Given the description of an element on the screen output the (x, y) to click on. 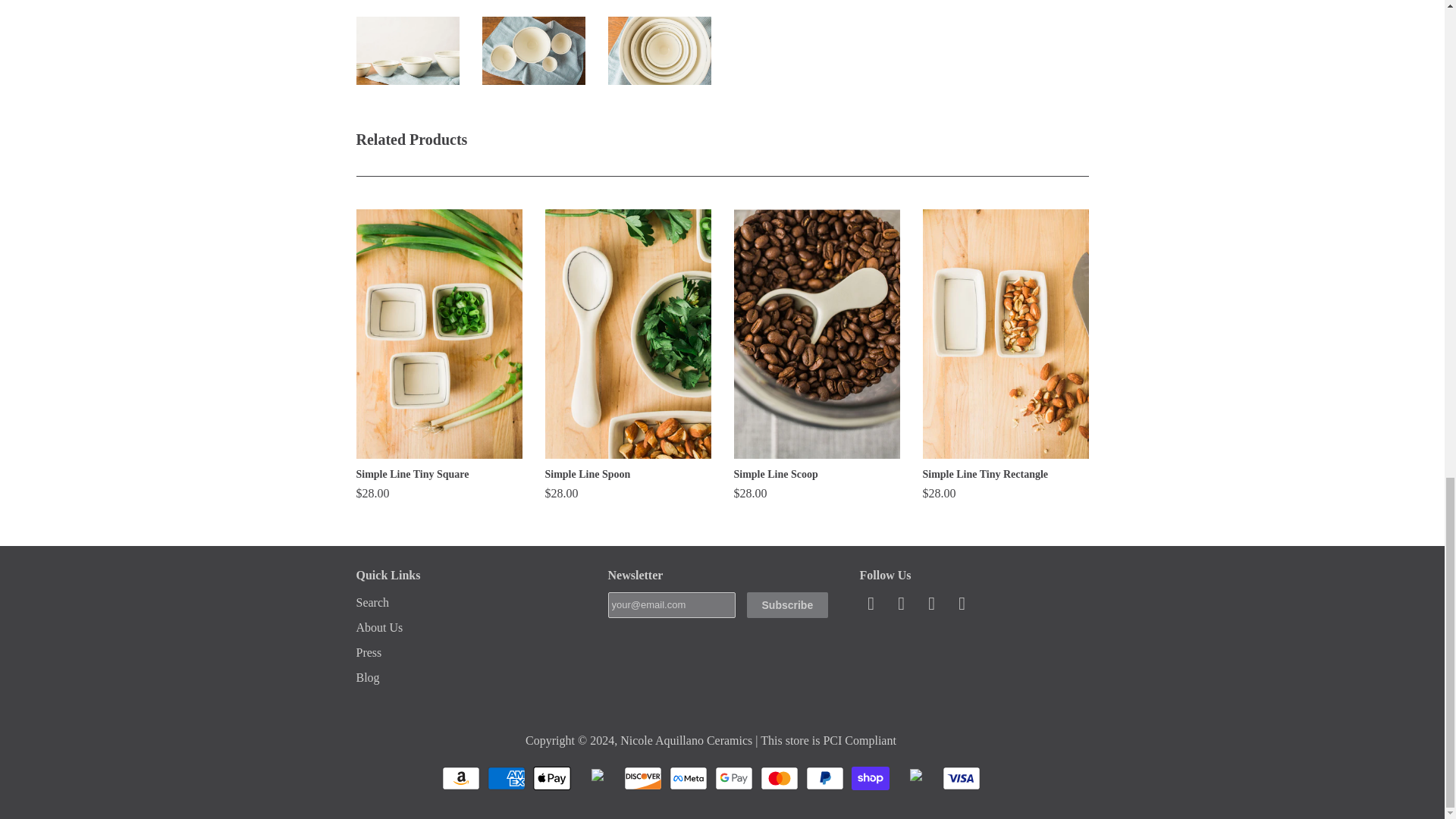
Follow us on Instagram! (964, 606)
Follow us on Facebook! (873, 606)
Follow us on Twitter! (903, 606)
Search (373, 602)
Blog (368, 676)
Subscribe (786, 605)
About Us (379, 626)
Press (368, 652)
Follow us on Pinterest! (933, 606)
